Given the description of an element on the screen output the (x, y) to click on. 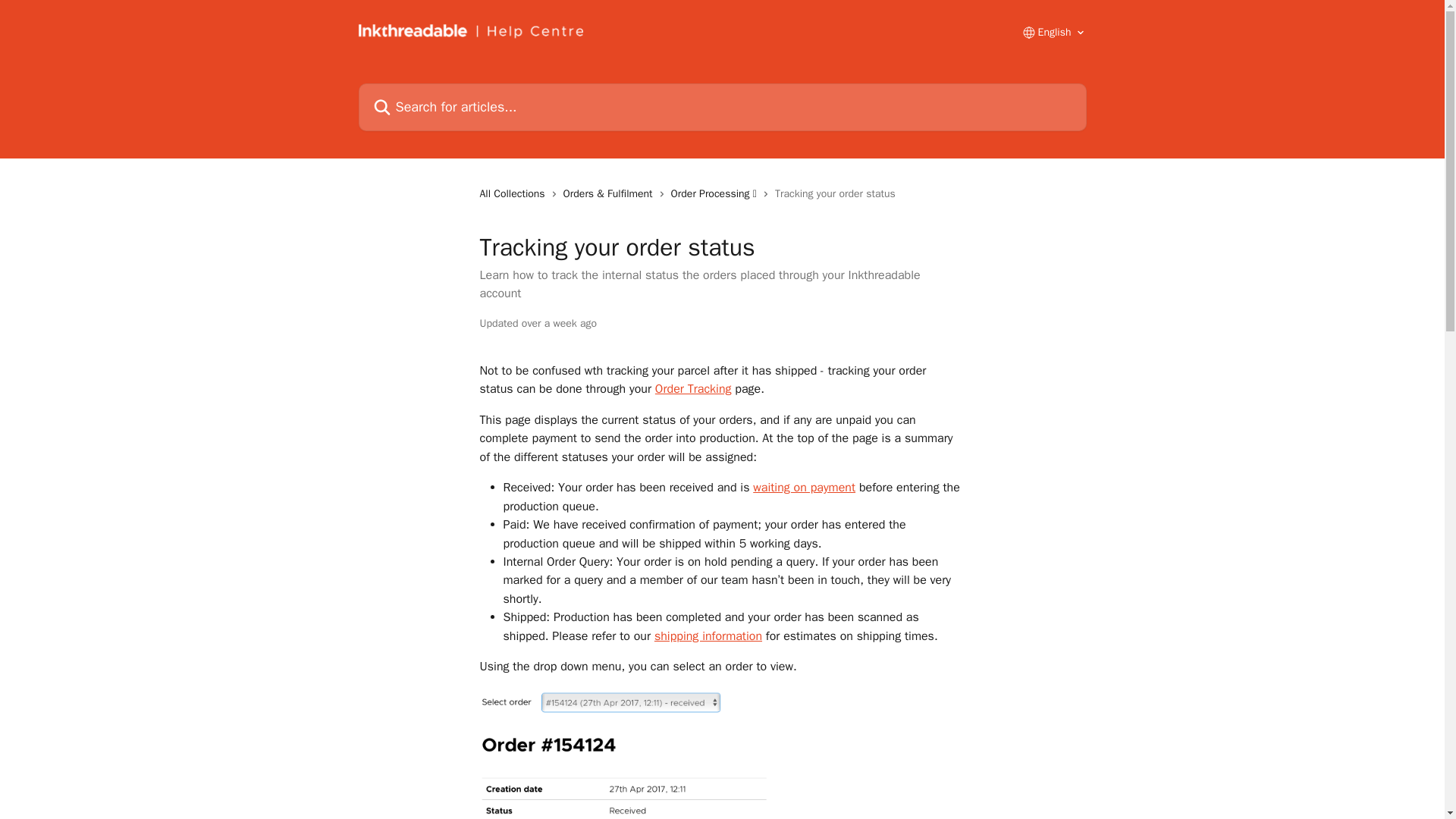
waiting on payment (804, 487)
All Collections (514, 193)
shipping information (707, 635)
Order Tracking (693, 388)
